Given the description of an element on the screen output the (x, y) to click on. 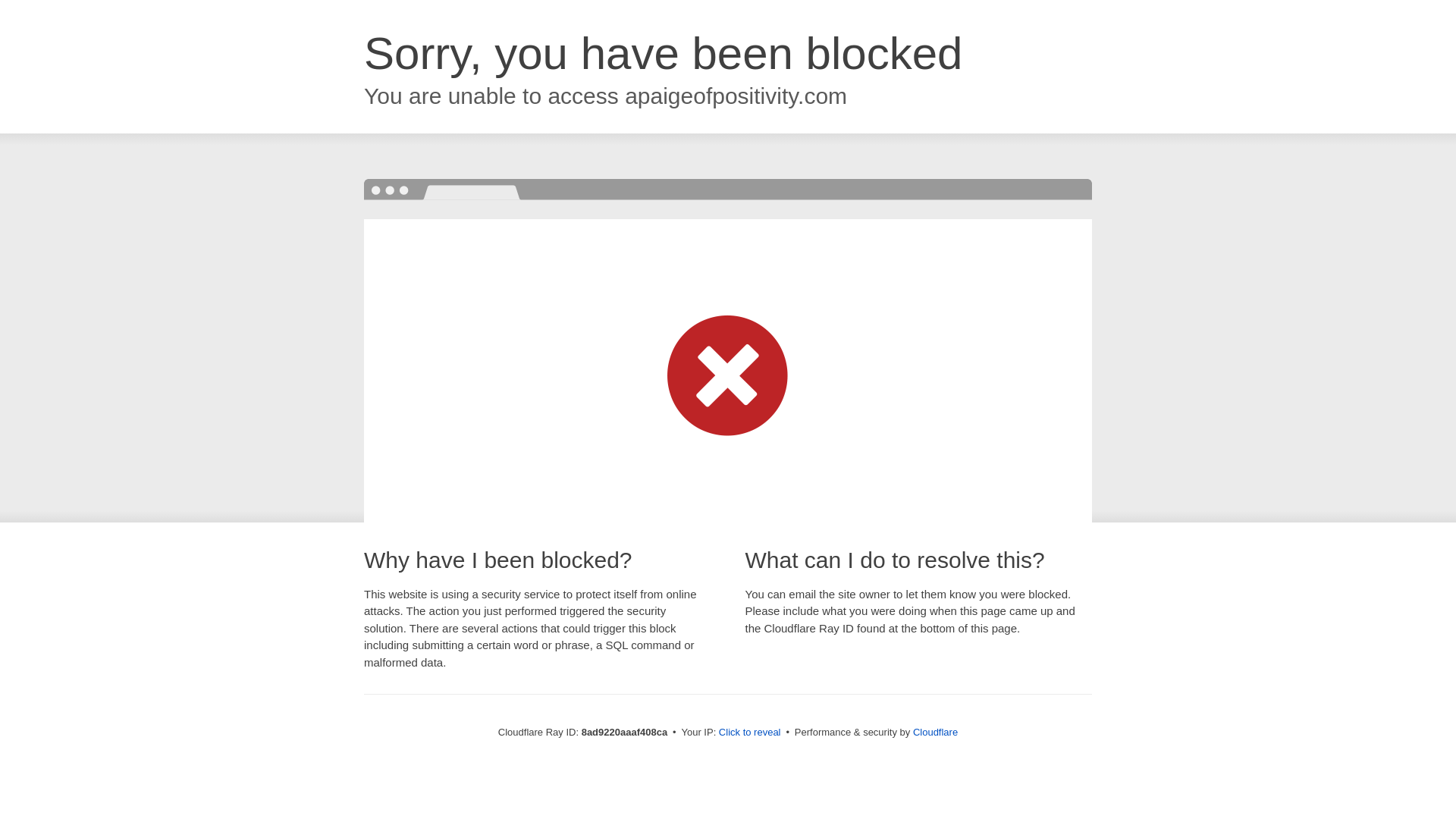
Click to reveal (749, 732)
Cloudflare (935, 731)
